Given the description of an element on the screen output the (x, y) to click on. 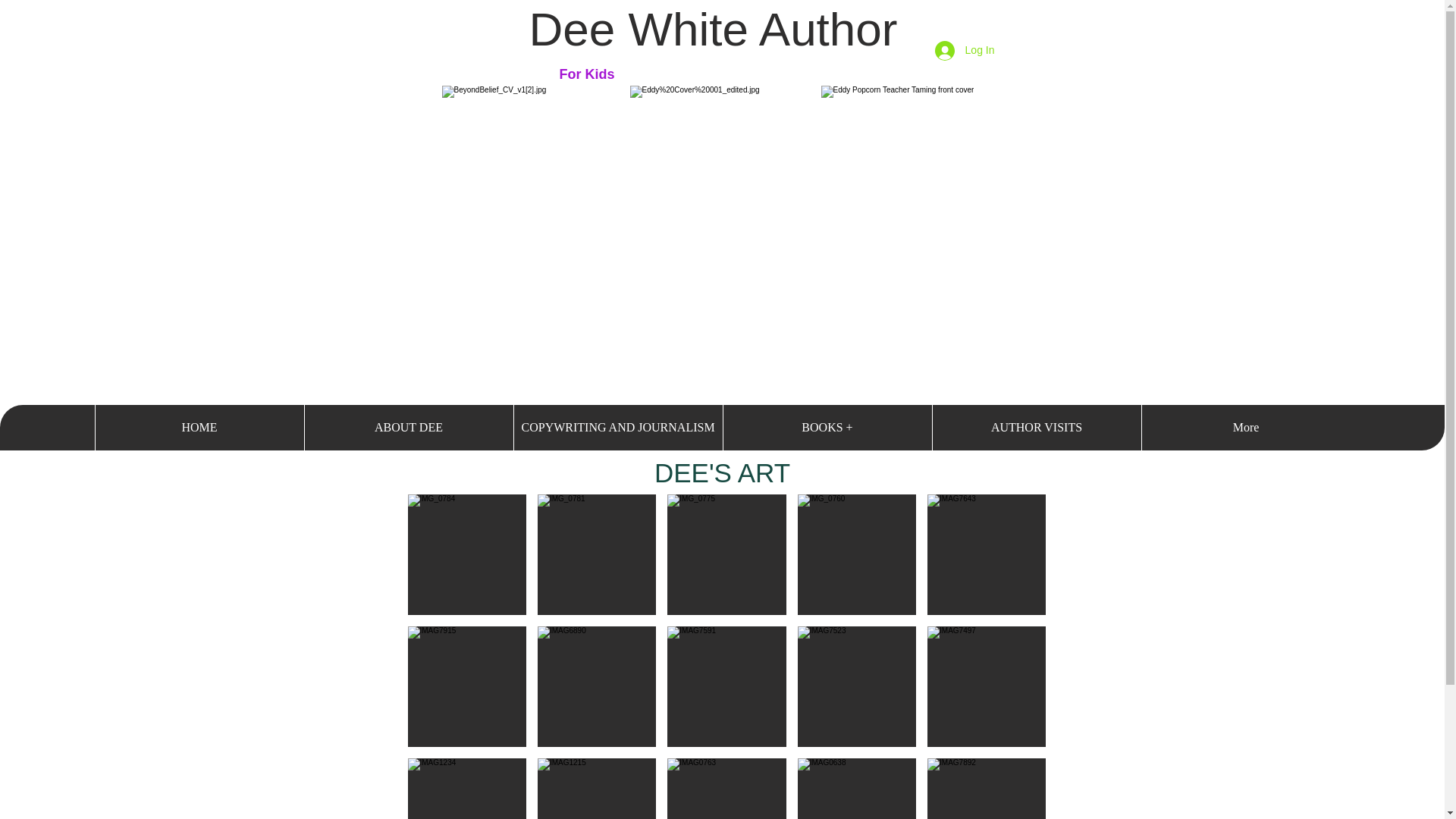
Dee White Author Element type: text (713, 29)
HOME Element type: text (198, 427)
AUTHOR VISITS Element type: text (1035, 427)
BOOKS + Element type: text (826, 427)
Log In Element type: text (964, 50)
COPYWRITING AND JOURNALISM Element type: text (616, 427)
ABOUT DEE Element type: text (407, 427)
